Given the description of an element on the screen output the (x, y) to click on. 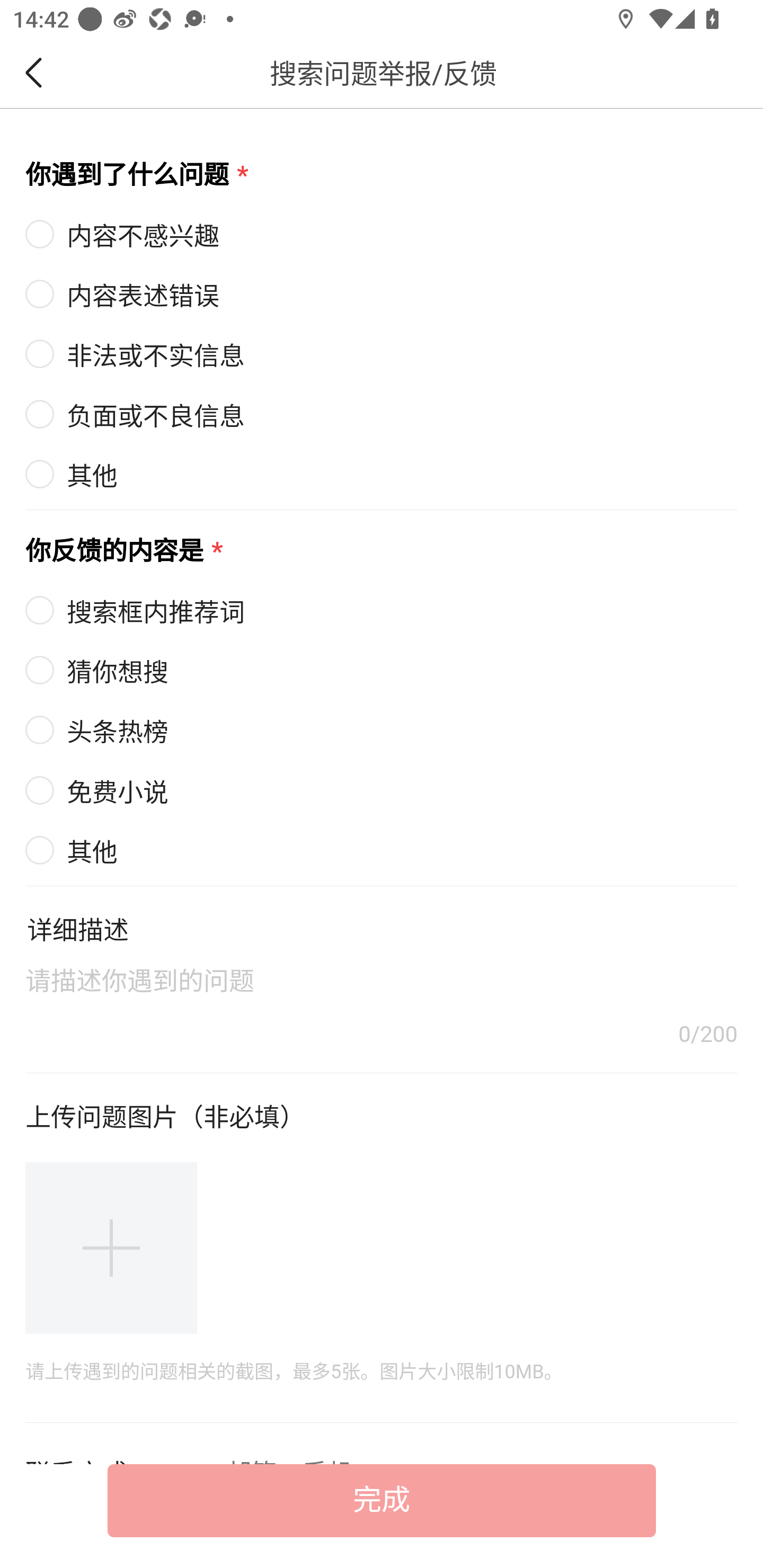
返回，按钮 (37, 72)
内容不感兴趣 (381, 233)
内容表述错误 (381, 293)
非法或不实信息 (381, 354)
负面或不良信息 (381, 413)
其他 (381, 473)
搜索框内推荐词 (135, 611)
猜你想搜 (97, 672)
头条热榜 (97, 732)
免费小说 (97, 791)
其他 (72, 851)
选择文件: 未选择任何文件 (110, 1247)
完成 (381, 1500)
